Given the description of an element on the screen output the (x, y) to click on. 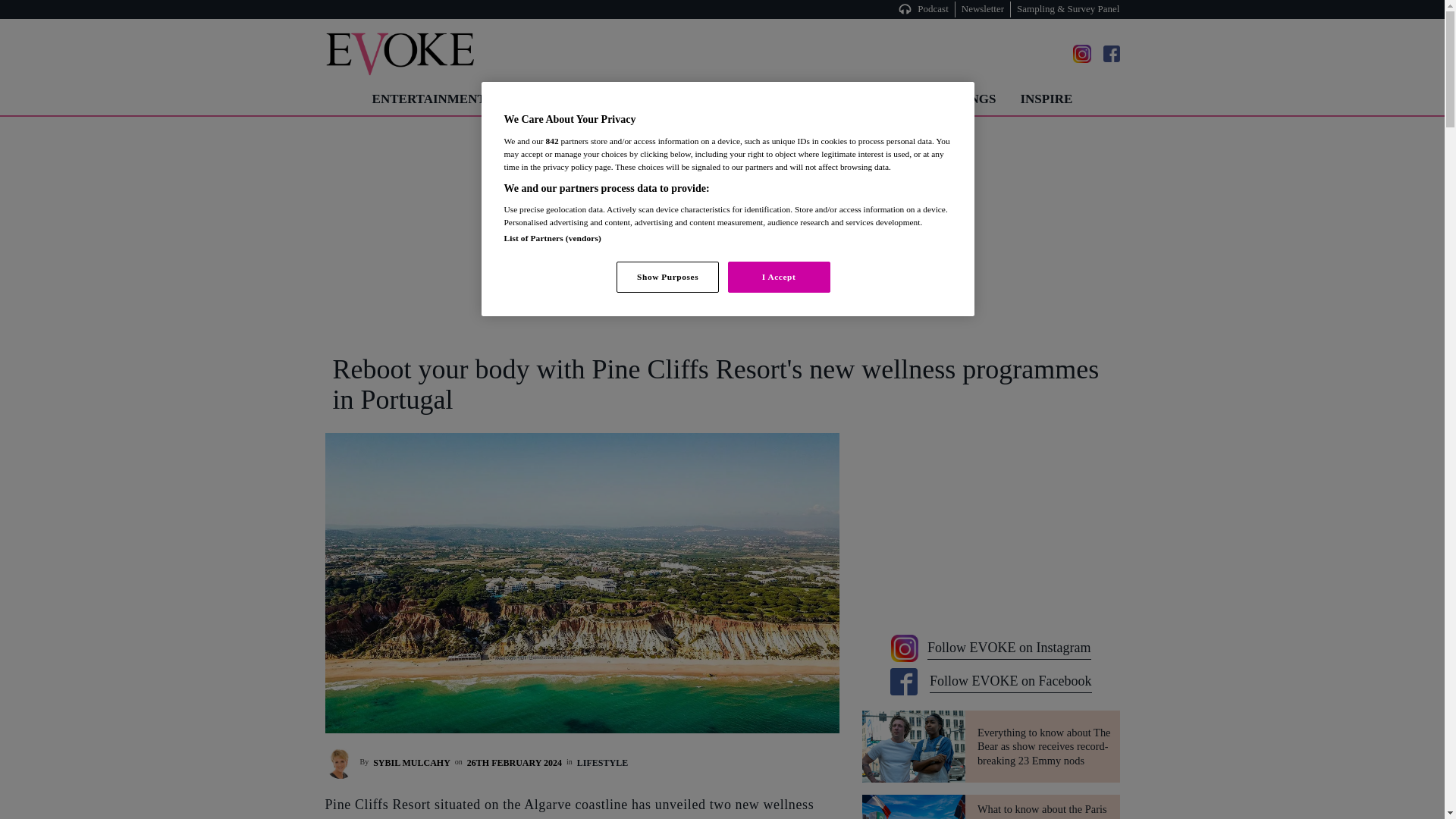
Podcast (935, 9)
LIFESTYLE (706, 98)
Newsletter (982, 9)
BEAUTY (618, 98)
FASHION (538, 98)
WELLNESS (802, 98)
ENTERTAINMENT (428, 98)
NEWS (881, 98)
